Given the description of an element on the screen output the (x, y) to click on. 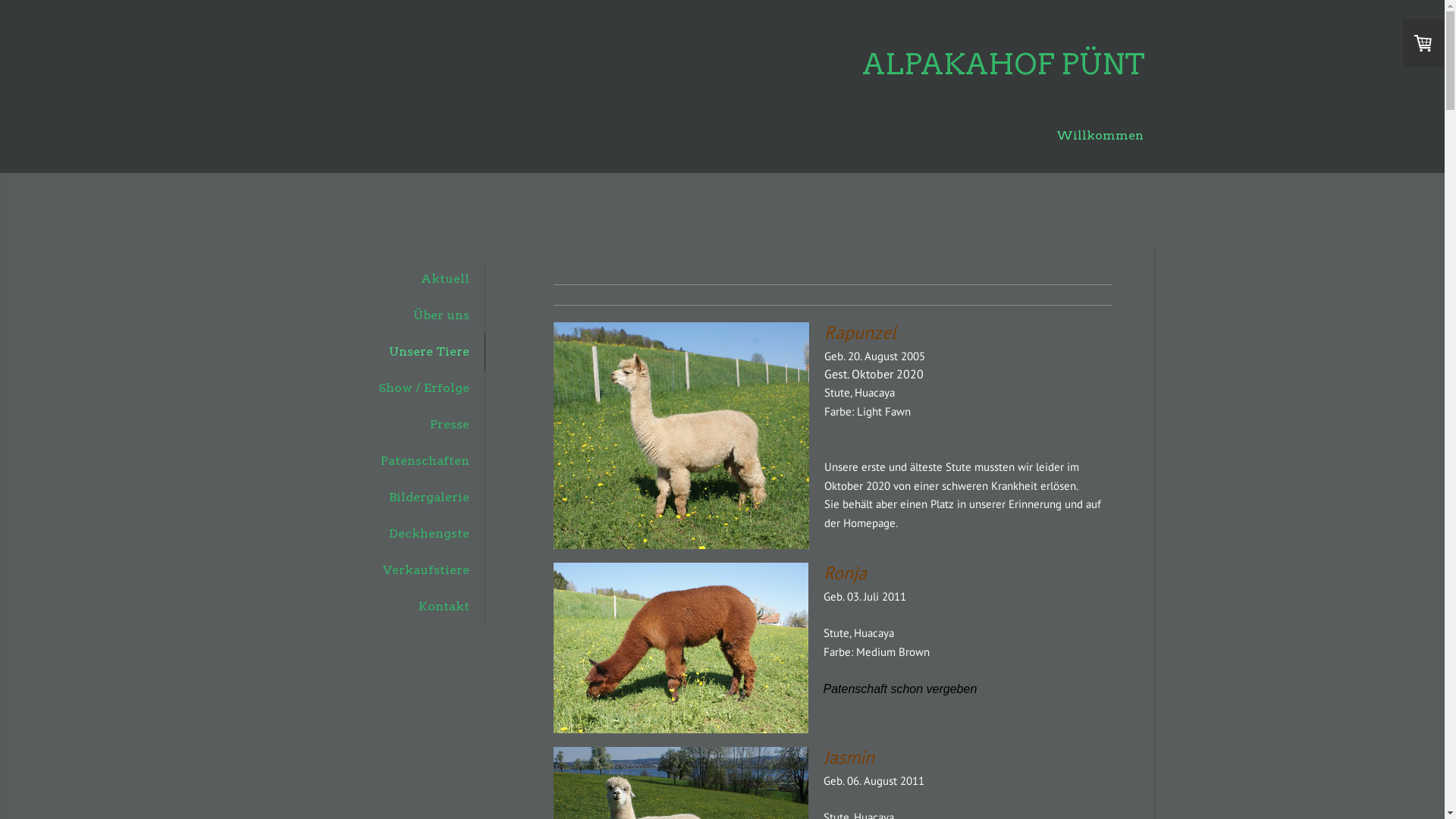
Patenschaften Element type: text (402, 460)
Unsere Tiere Element type: text (402, 351)
Presse Element type: text (402, 424)
Deckhengste Element type: text (402, 533)
Show / Erfolge Element type: text (402, 388)
Aktuell Element type: text (402, 278)
Verkaufstiere Element type: text (402, 570)
Willkommen Element type: text (1099, 136)
Bildergalerie Element type: text (402, 497)
Kontakt Element type: text (402, 606)
